Given the description of an element on the screen output the (x, y) to click on. 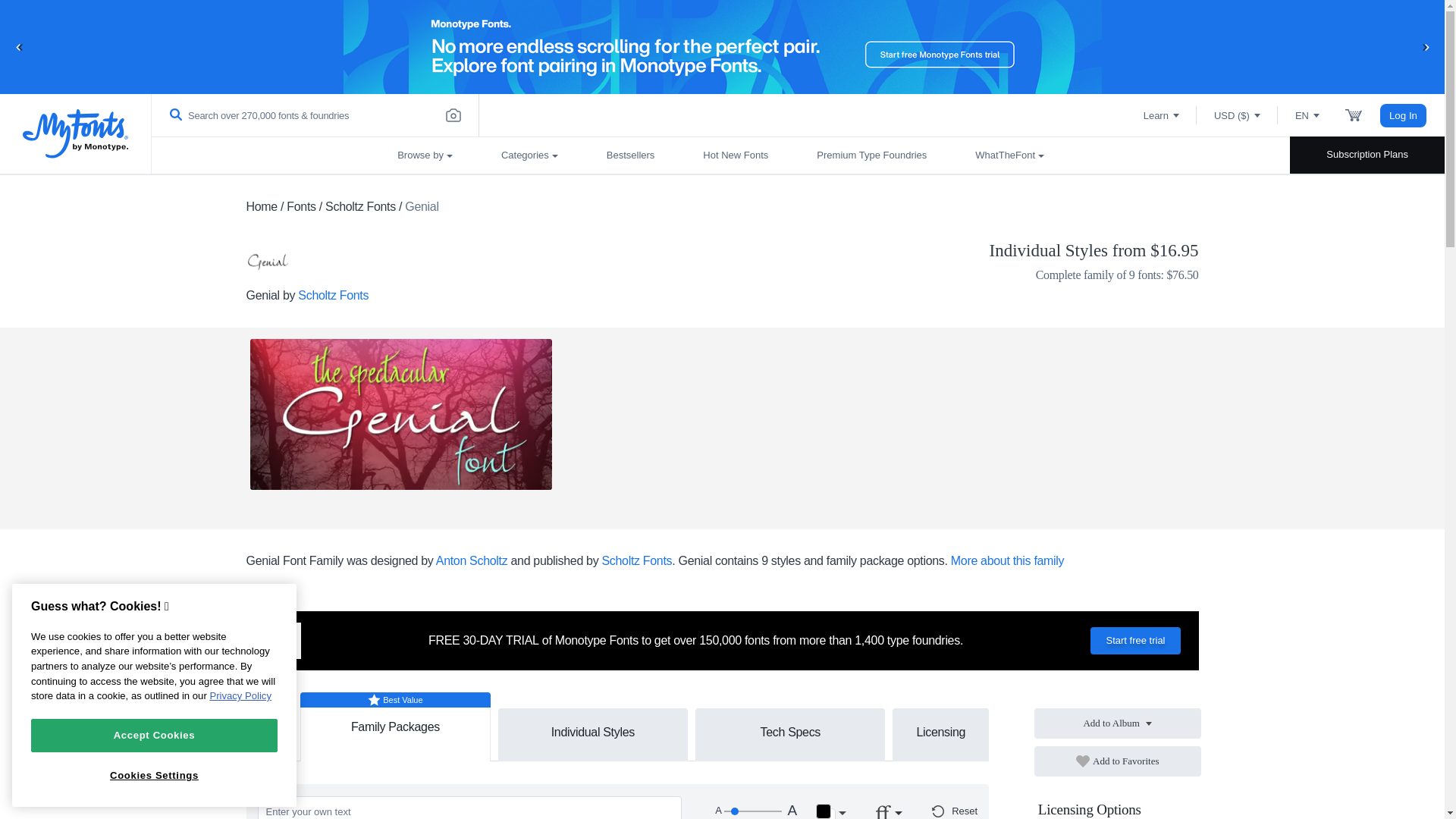
Tech Specs (789, 731)
Skip to content (72, 27)
Licensing (940, 731)
MyFonts (75, 133)
Family Packages (395, 719)
Individual Styles (593, 731)
Log In (1403, 114)
